Given the description of an element on the screen output the (x, y) to click on. 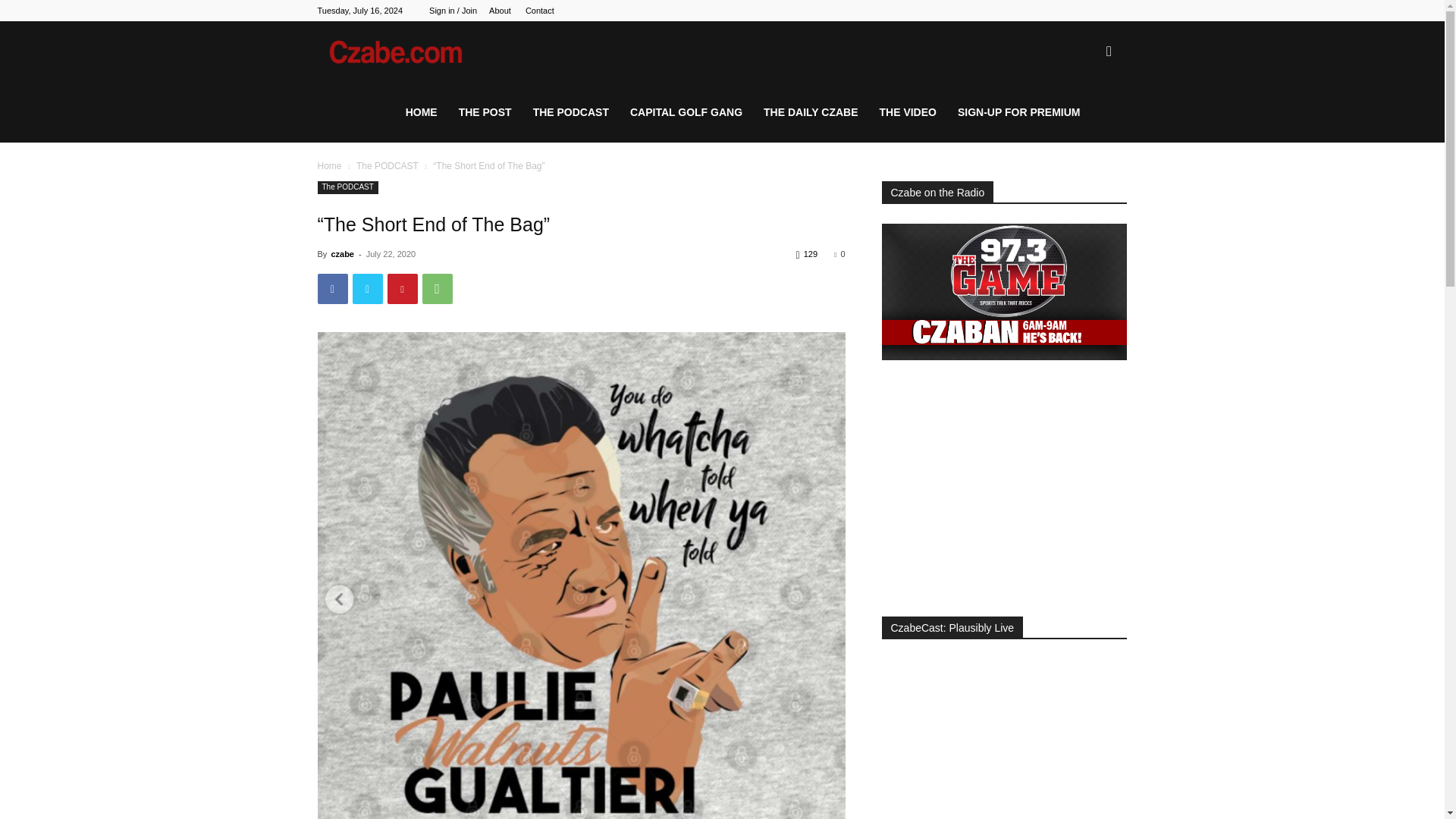
About (500, 10)
The PODCAST (387, 165)
View all posts in The PODCAST (387, 165)
THE POST (485, 111)
SIGN-UP FOR PREMIUM (1018, 111)
Home (328, 165)
HOME (421, 111)
Facebook (332, 288)
WhatsApp (436, 288)
czabe (341, 253)
THE PODCAST (571, 111)
Twitter (366, 288)
Czabe.com (406, 51)
Search (1085, 124)
